Given the description of an element on the screen output the (x, y) to click on. 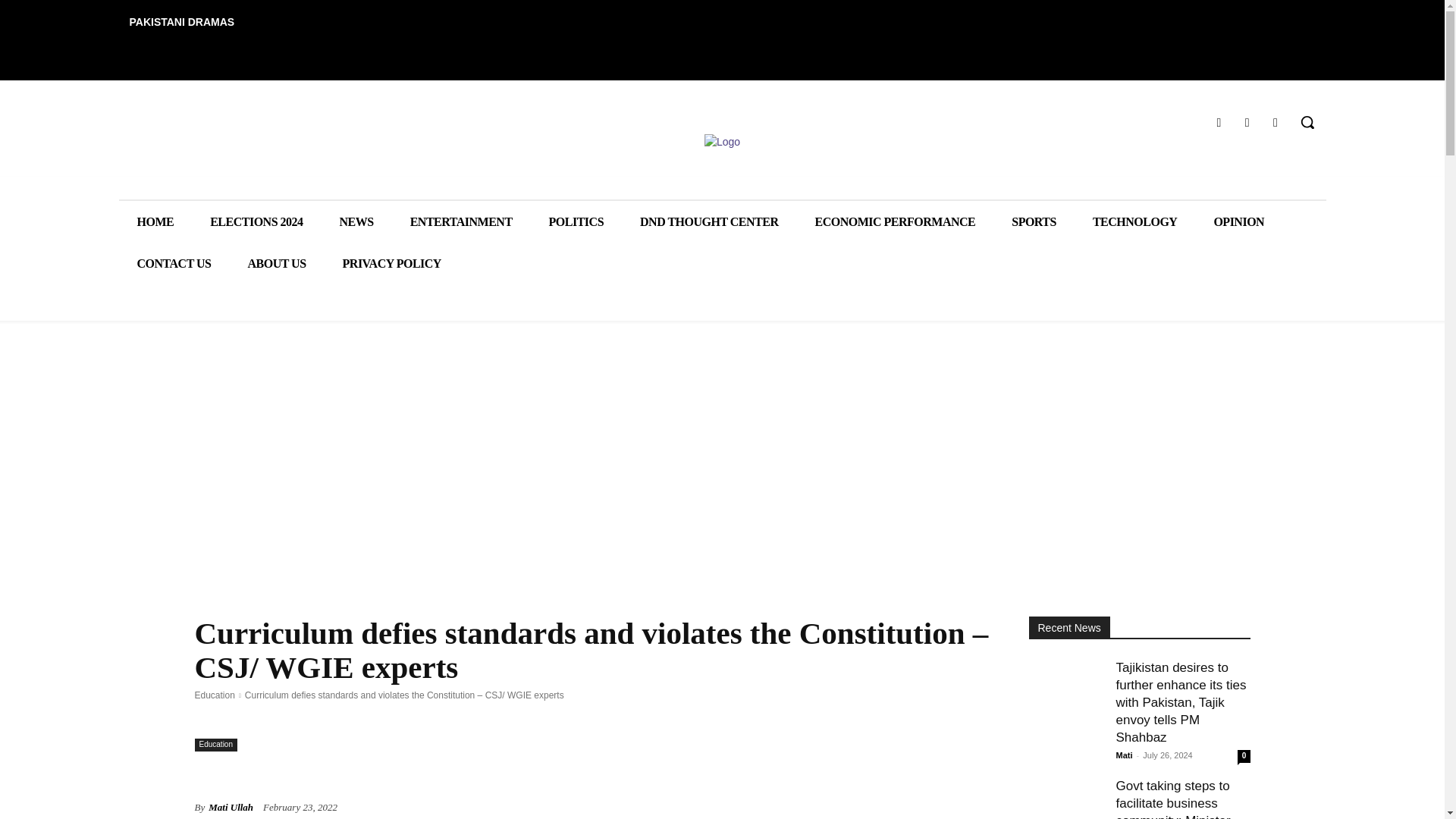
ECONOMIC PERFORMANCE (894, 221)
Facebook (1218, 122)
PRIVACY POLICY (392, 263)
TECHNOLOGY (1134, 221)
POLITICS (576, 221)
DND THOUGHT CENTER (708, 221)
SPORTS (1033, 221)
CONTACT US (172, 263)
Instagram (1246, 122)
View all posts in Education (213, 695)
HOME (154, 221)
ABOUT US (275, 263)
Twitter (1275, 122)
ENTERTAINMENT (461, 221)
ELECTIONS 2024 (256, 221)
